Given the description of an element on the screen output the (x, y) to click on. 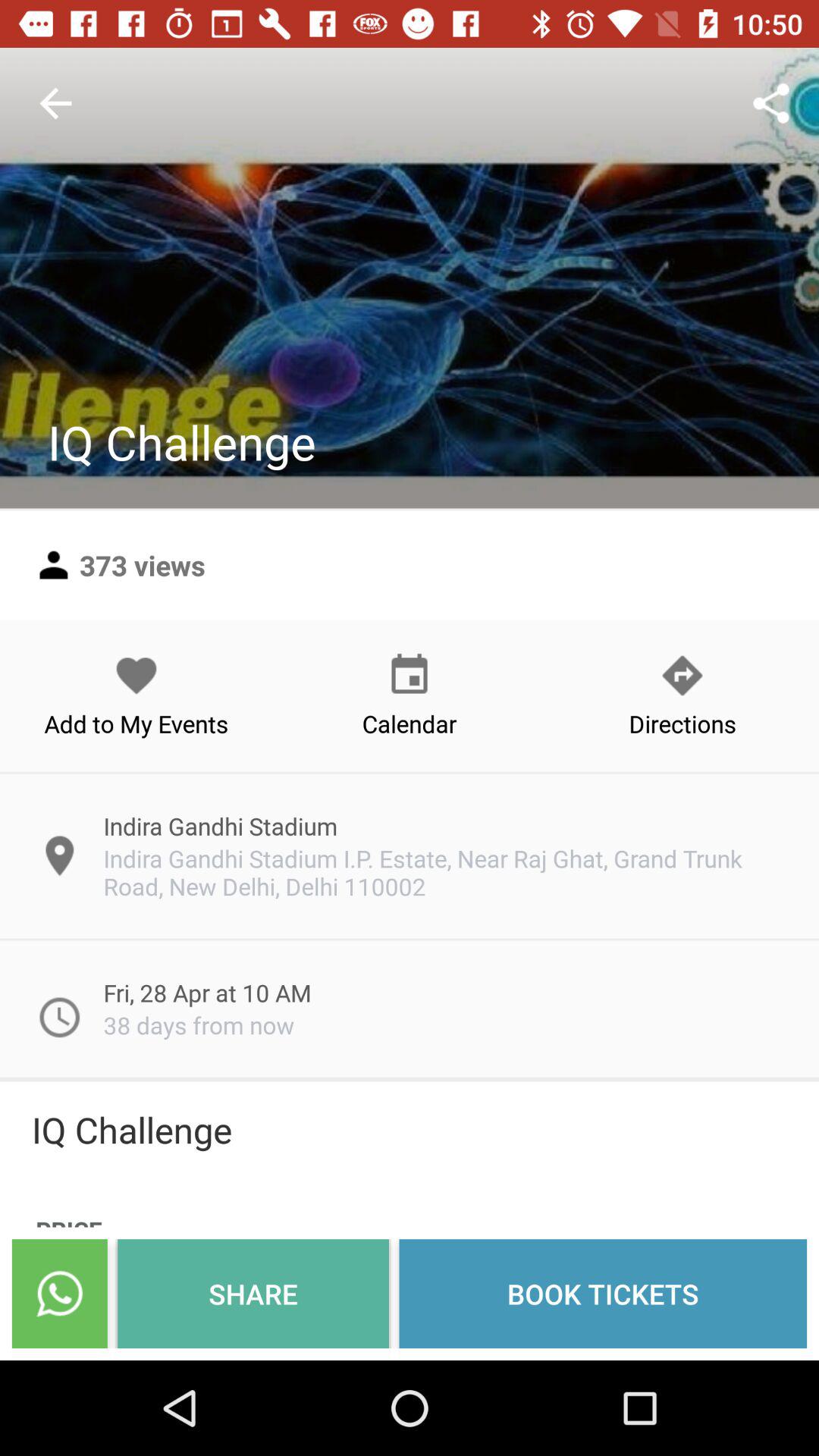
turn off the icon to the right of the calendar item (682, 695)
